Given the description of an element on the screen output the (x, y) to click on. 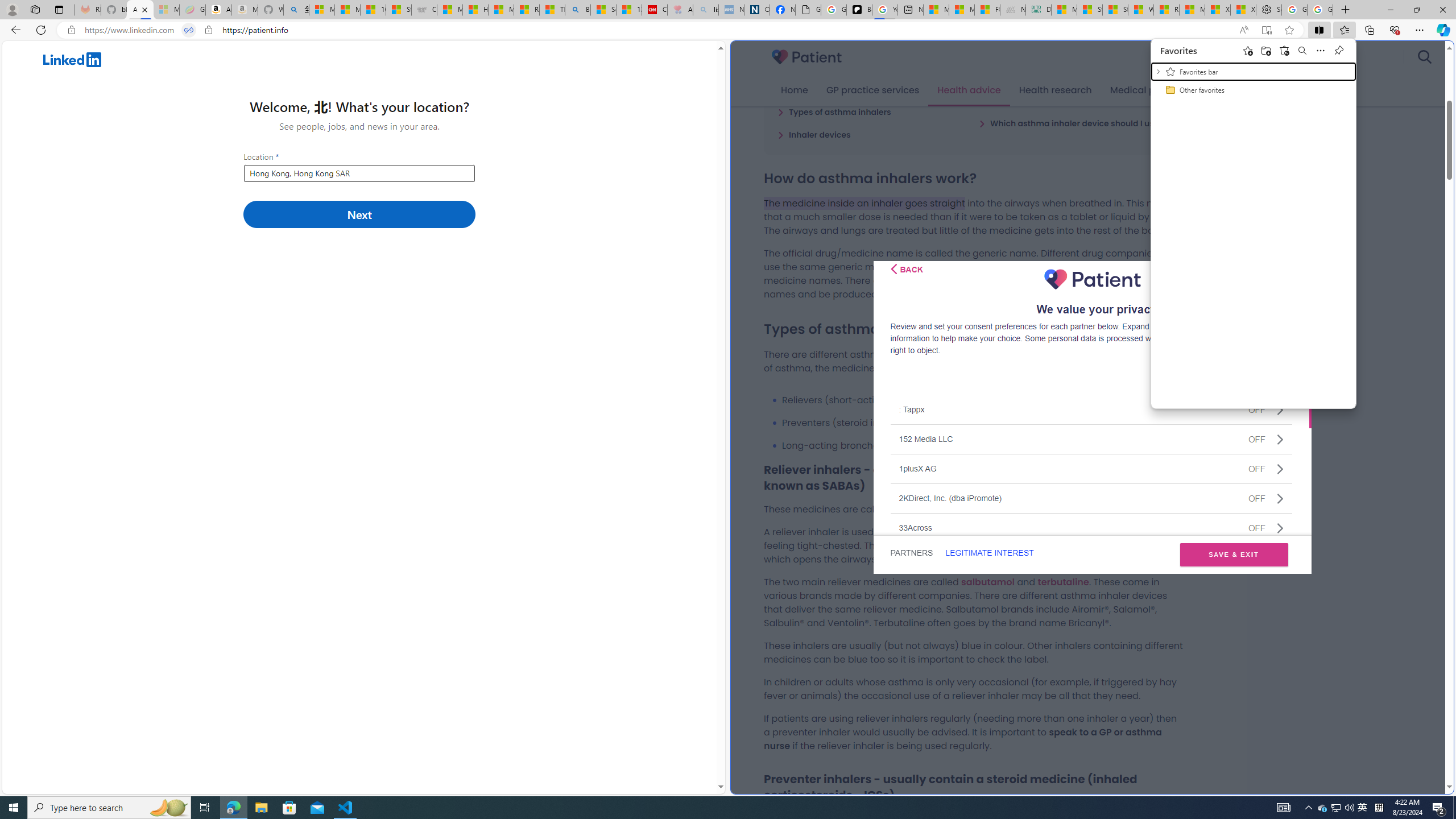
Tabs in split screen (1322, 807)
Restore deleted favorites (189, 29)
PARTNERS (1284, 49)
FOX News - MSN (911, 552)
